Given the description of an element on the screen output the (x, y) to click on. 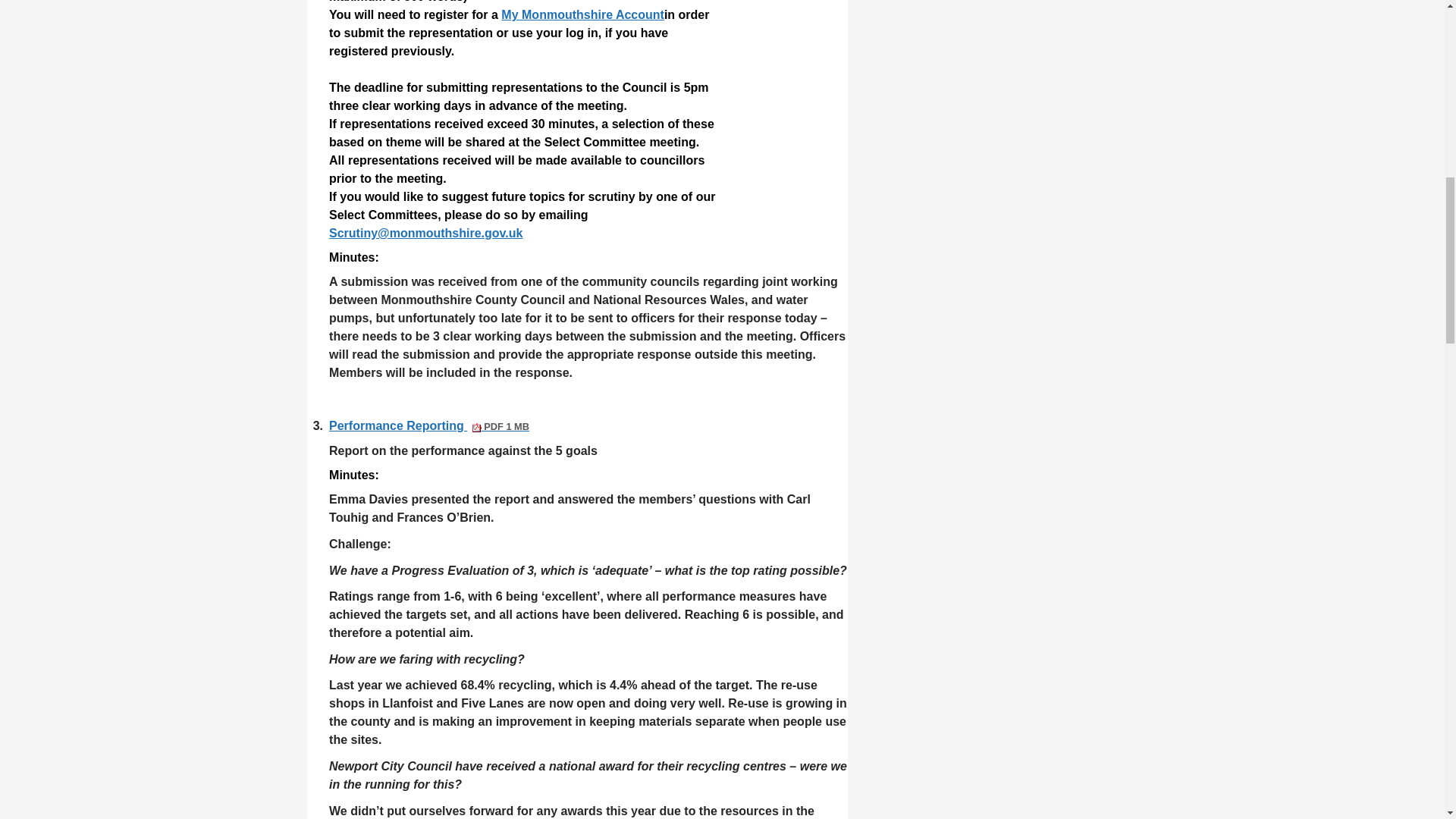
My Monmouthshire Account (581, 14)
Link to document 'Performance Reporting	' pdf file (429, 425)
Performance Reporting PDF 1 MB (429, 425)
